Given the description of an element on the screen output the (x, y) to click on. 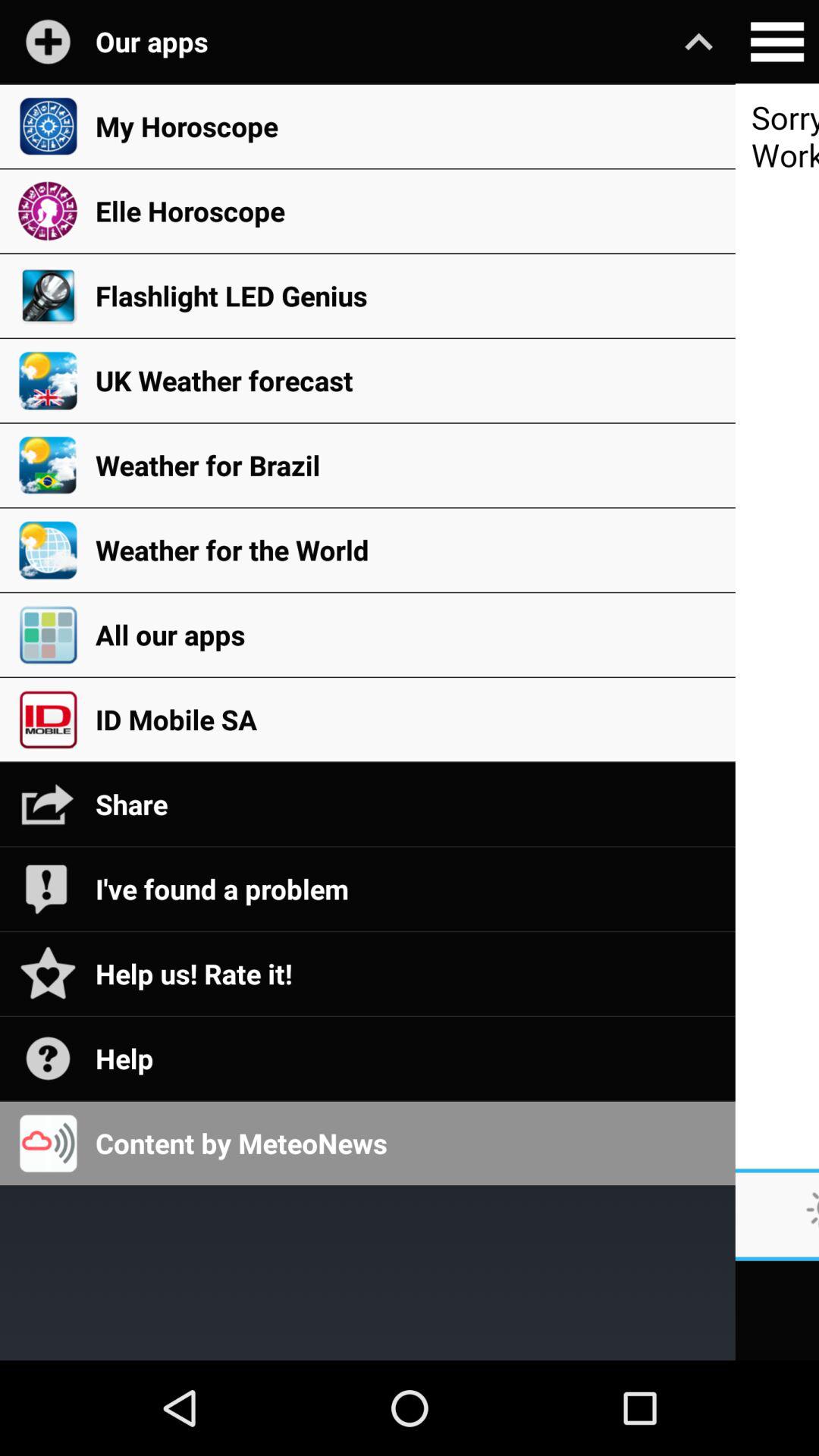
menu icon (777, 41)
